Given the description of an element on the screen output the (x, y) to click on. 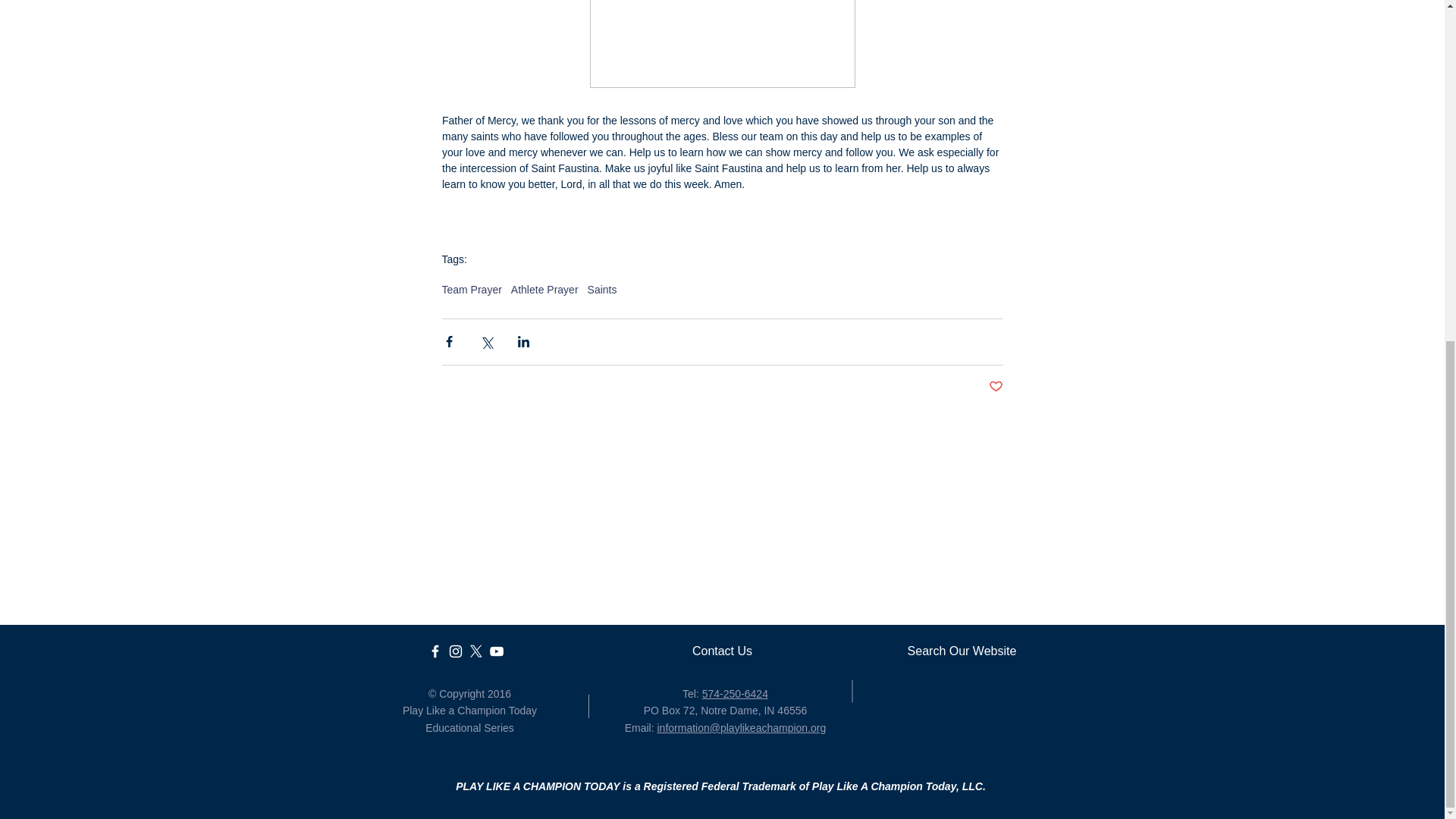
Saints (602, 289)
574-250-6424 (734, 693)
Athlete Prayer (544, 289)
Team Prayer (470, 289)
Post not marked as liked (995, 386)
